Given the description of an element on the screen output the (x, y) to click on. 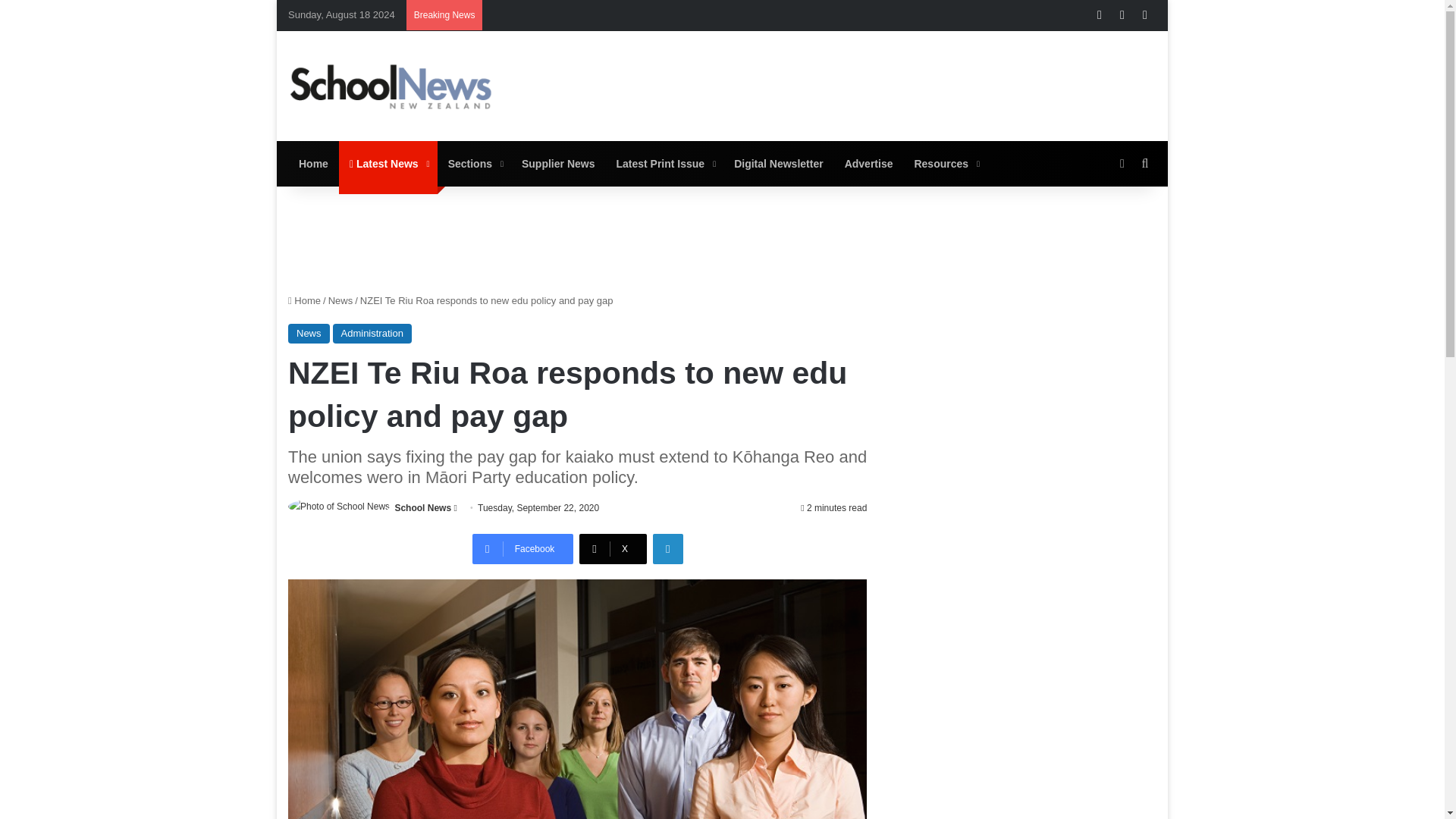
Sections (474, 163)
Latest News (388, 163)
Facebook (522, 548)
Home (313, 163)
Home (304, 300)
Administration (372, 333)
School News (422, 507)
X (612, 548)
Latest Print Issue (664, 163)
News (309, 333)
